Given the description of an element on the screen output the (x, y) to click on. 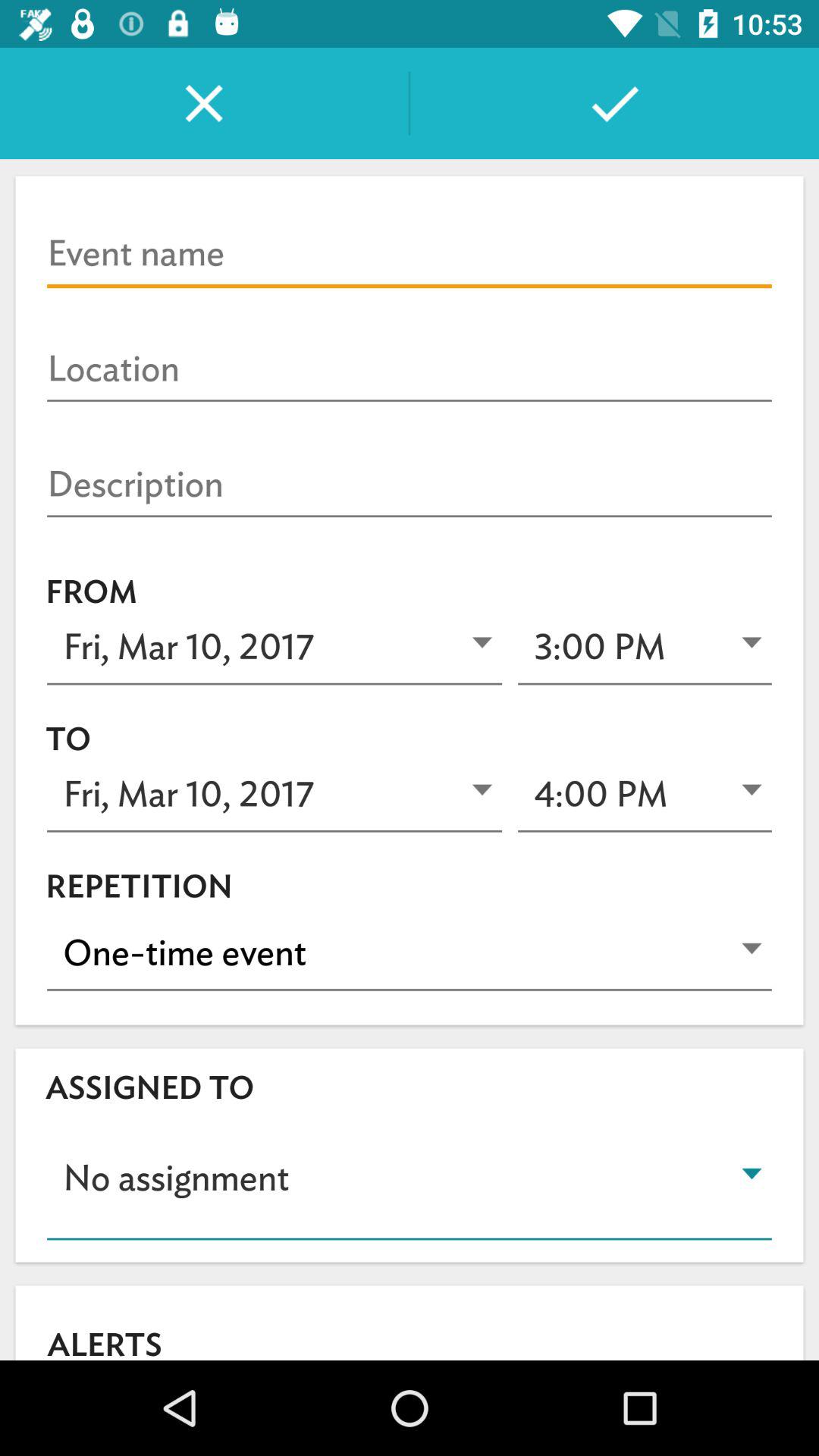
turn off the one-time event icon (409, 953)
